Given the description of an element on the screen output the (x, y) to click on. 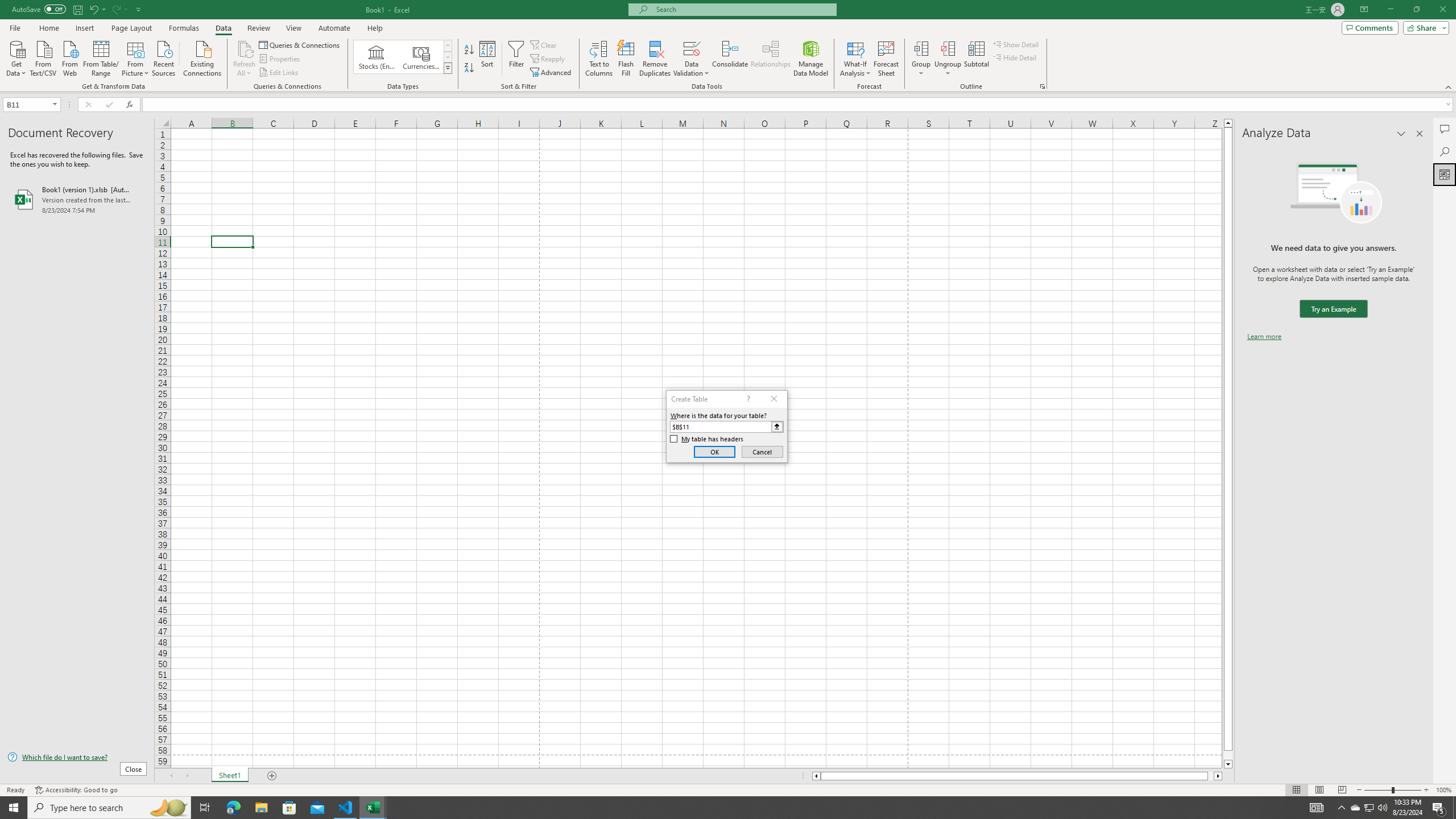
Consolidate... (729, 58)
Recent Sources (163, 57)
Edit Links (279, 72)
Properties (280, 58)
Data Types (448, 67)
We need data to give you answers. Try an Example (1333, 308)
